Given the description of an element on the screen output the (x, y) to click on. 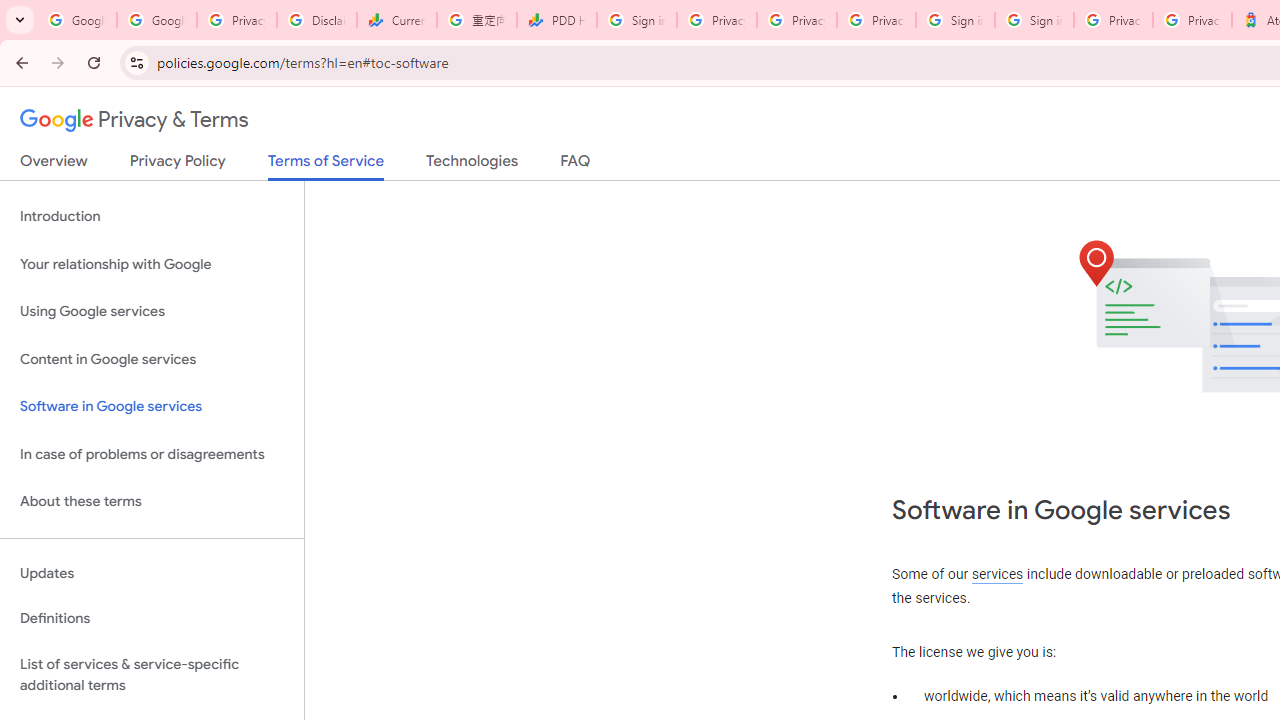
Content in Google services (152, 358)
Google Workspace Admin Community (76, 20)
List of services & service-specific additional terms (152, 674)
Sign in - Google Accounts (636, 20)
Software in Google services (152, 407)
Privacy Checkup (876, 20)
About these terms (152, 502)
Sign in - Google Accounts (1033, 20)
